Given the description of an element on the screen output the (x, y) to click on. 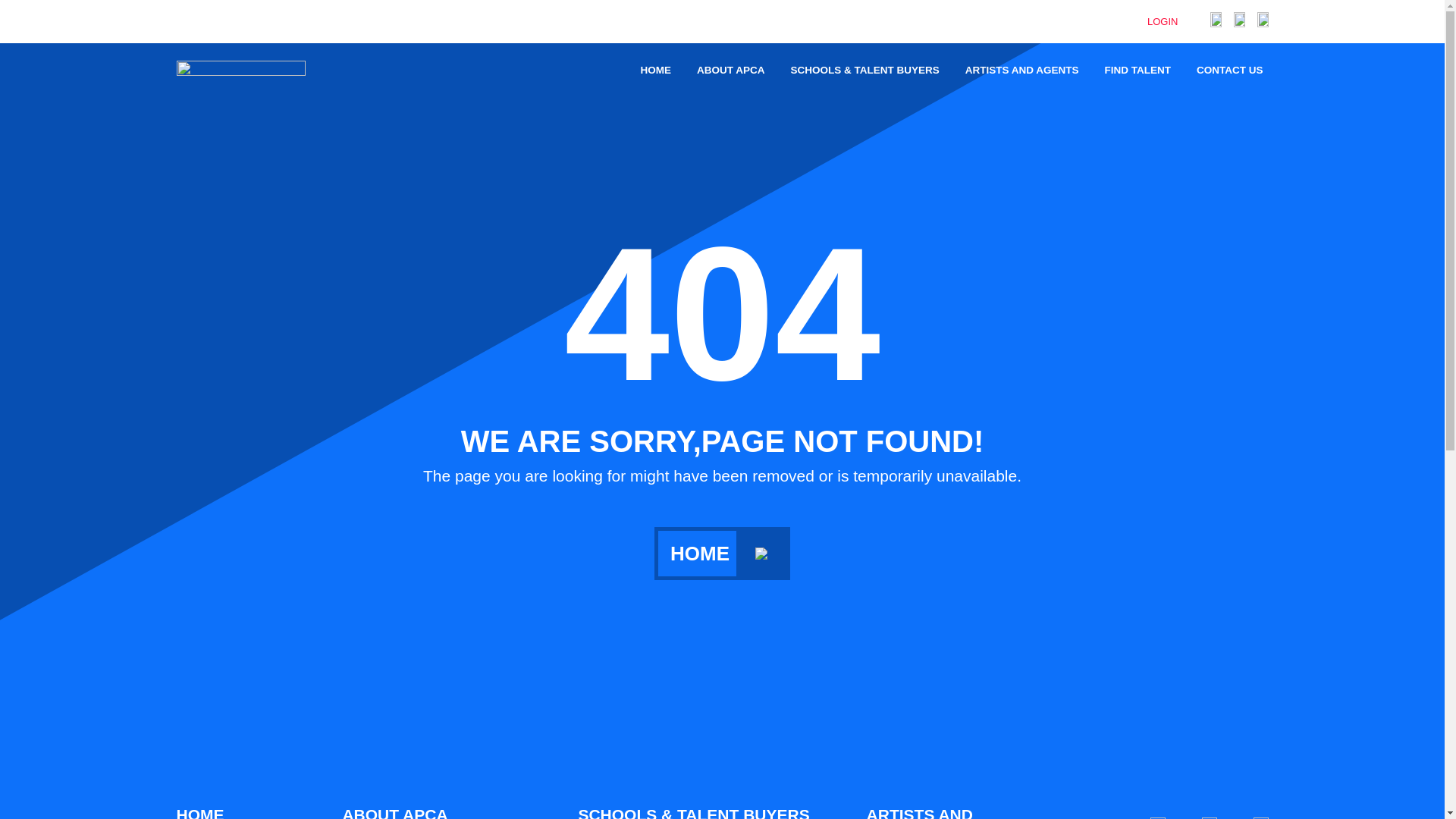
HOME (721, 553)
FIND TALENT (1137, 70)
ABOUT APCA (401, 812)
CONTACT US (1229, 70)
ABOUT APCA (730, 70)
ARTISTS AND AGENTS (1021, 70)
HOME (205, 812)
HOME (655, 70)
LOGIN (1178, 21)
